Given the description of an element on the screen output the (x, y) to click on. 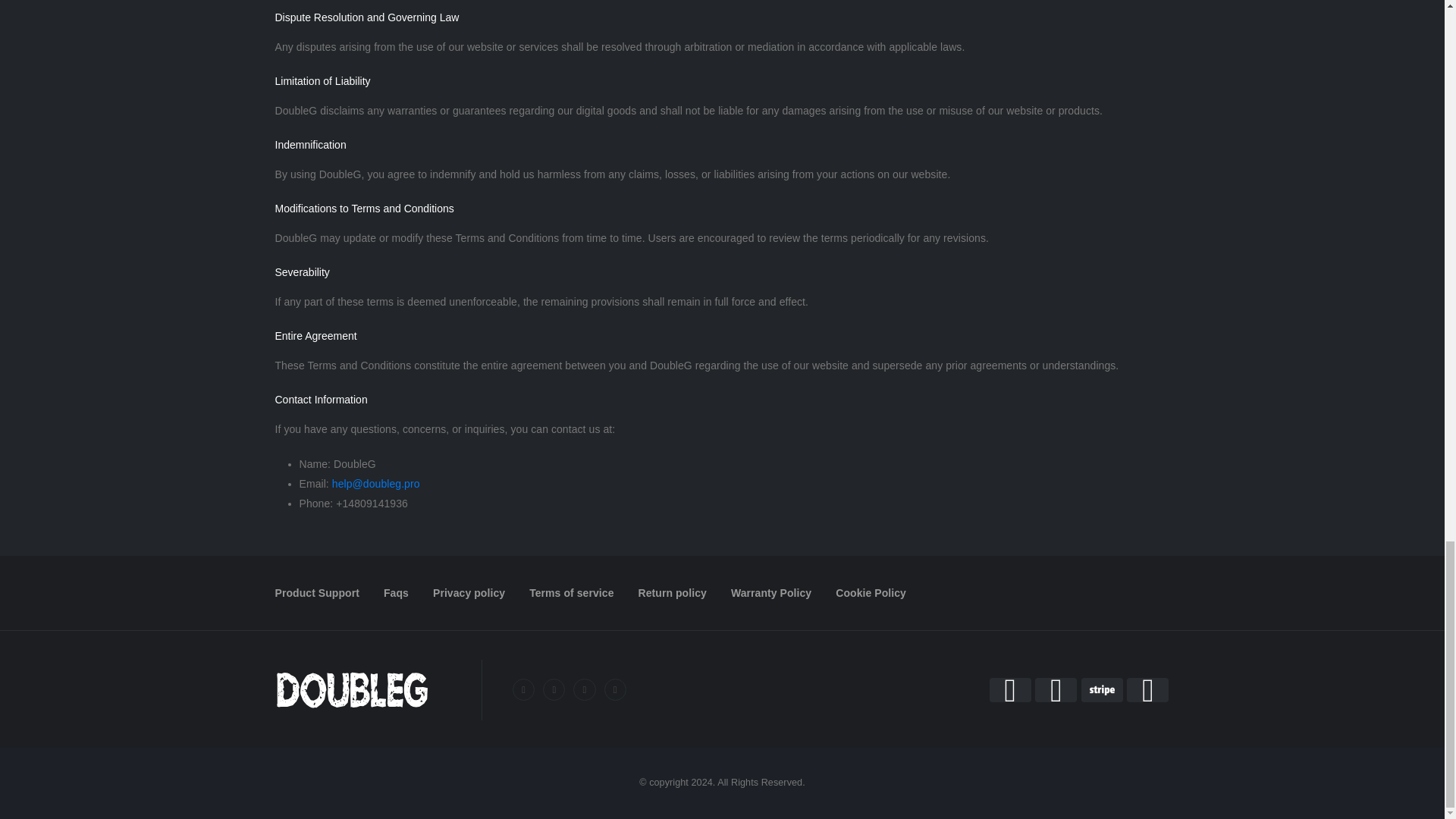
Doubleg (351, 690)
LinkedIn (615, 689)
Twitter (553, 689)
Privacy policy (468, 592)
Warranty Policy (770, 592)
Facebook (523, 689)
Terms of service (570, 592)
Return policy (672, 592)
Cookie Policy (870, 592)
Instagram (584, 689)
